Given the description of an element on the screen output the (x, y) to click on. 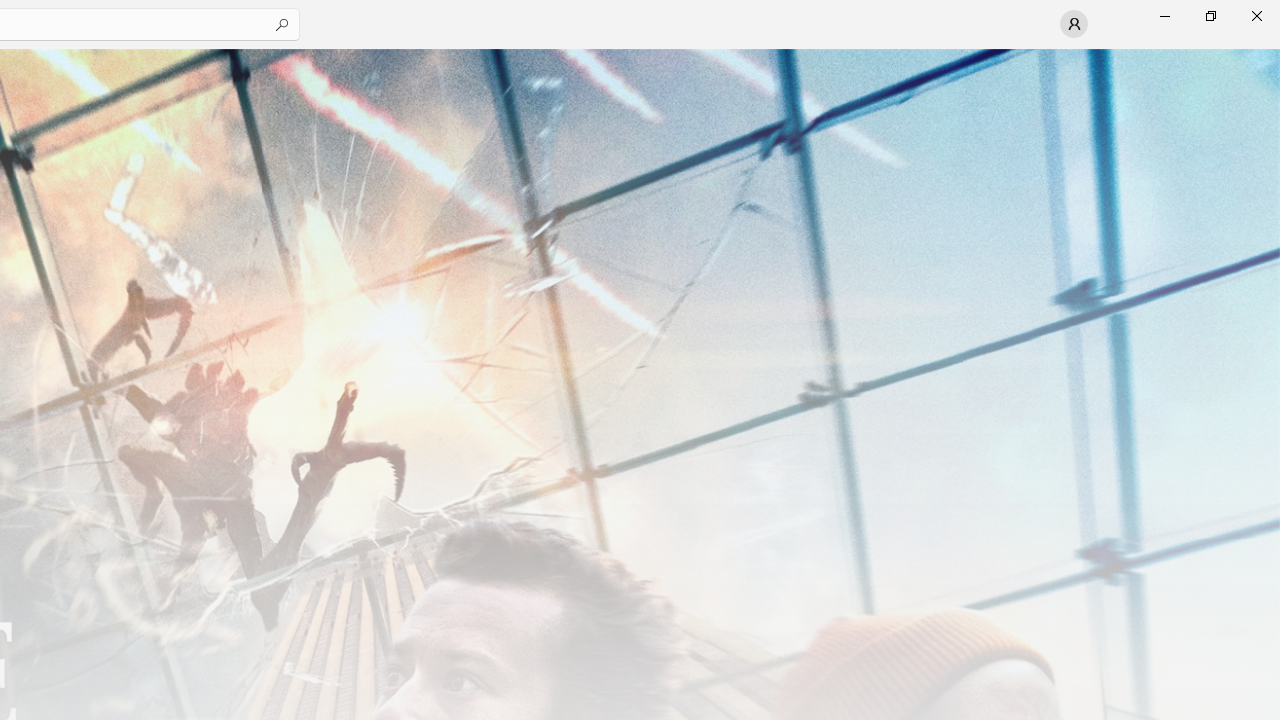
User profile (1073, 24)
Minimize Microsoft Store (1164, 15)
Close Microsoft Store (1256, 15)
Restore Microsoft Store (1210, 15)
